Given the description of an element on the screen output the (x, y) to click on. 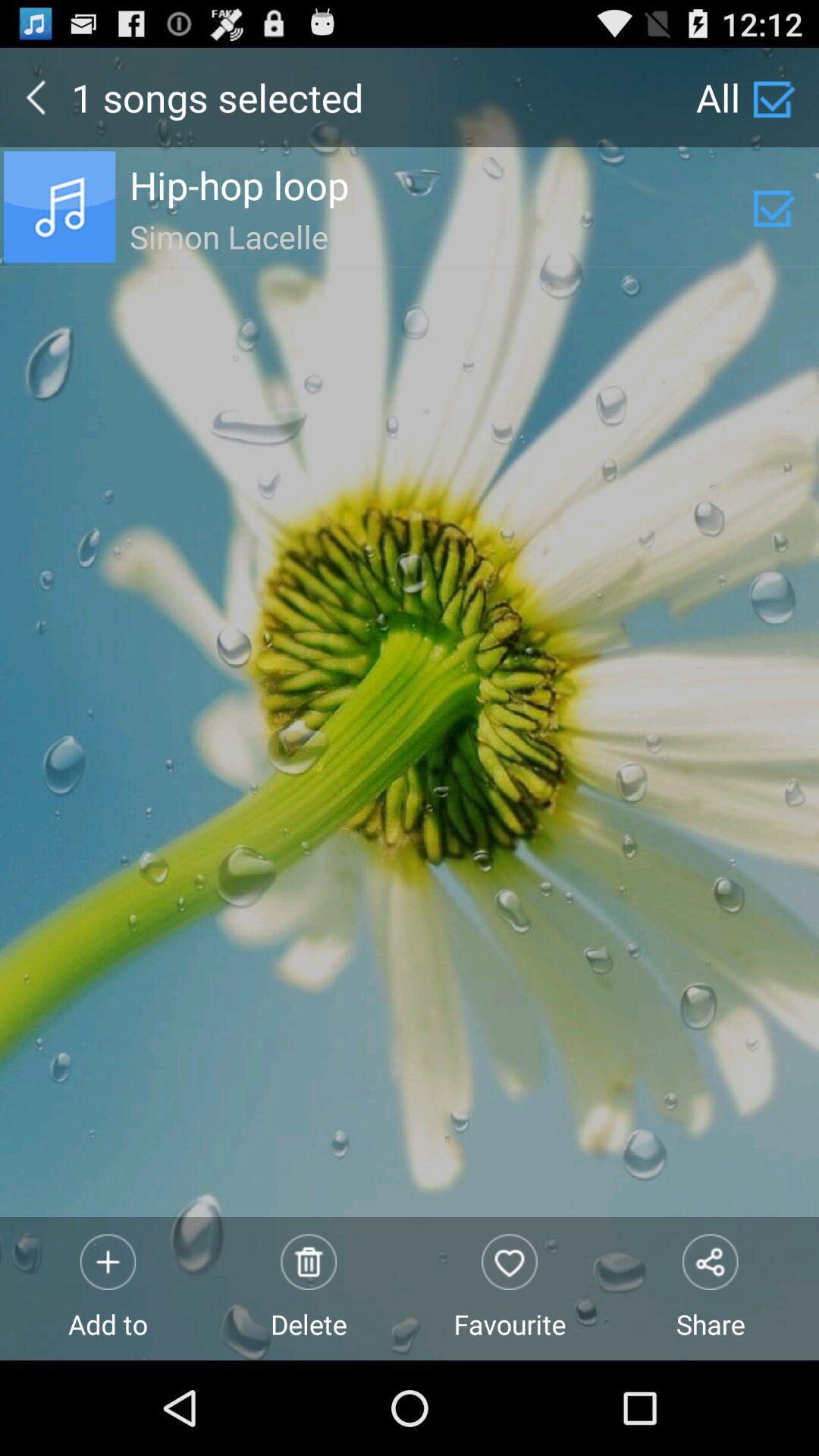
tap the icon below simon lacelle icon (509, 1288)
